Given the description of an element on the screen output the (x, y) to click on. 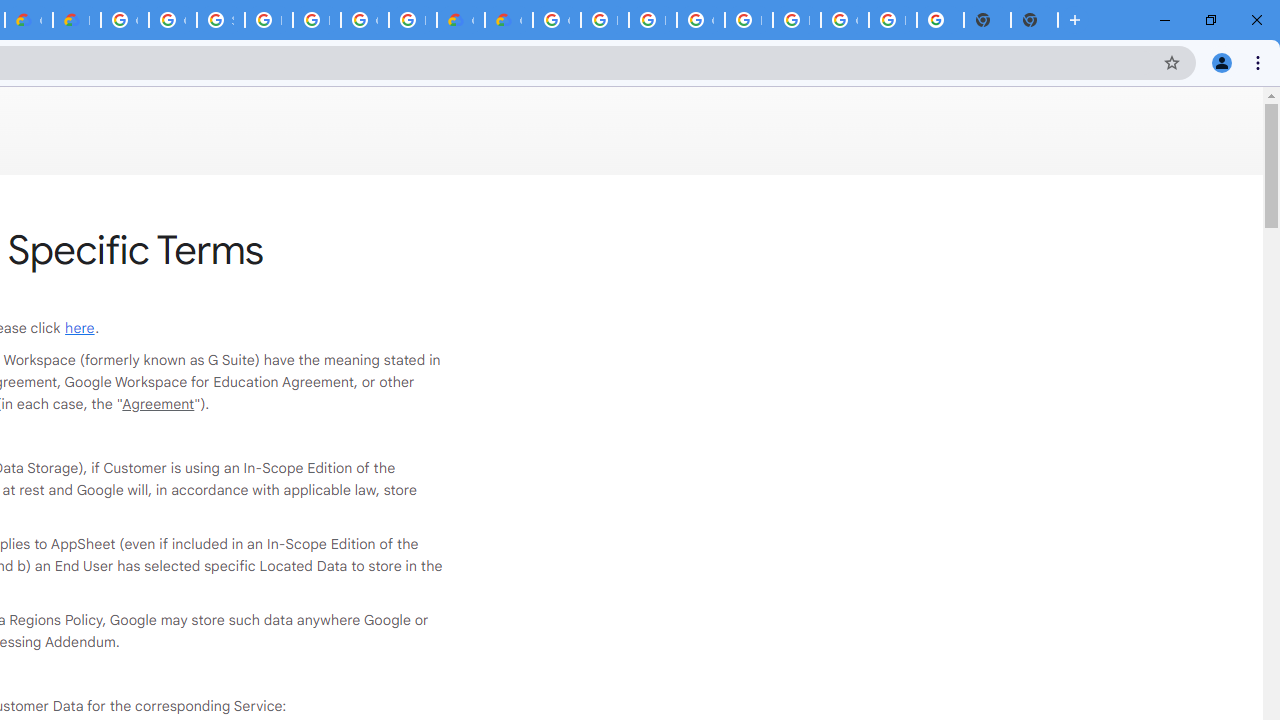
Google Cloud Platform (124, 20)
Sign in - Google Accounts (220, 20)
Customer Care | Google Cloud (460, 20)
